Given the description of an element on the screen output the (x, y) to click on. 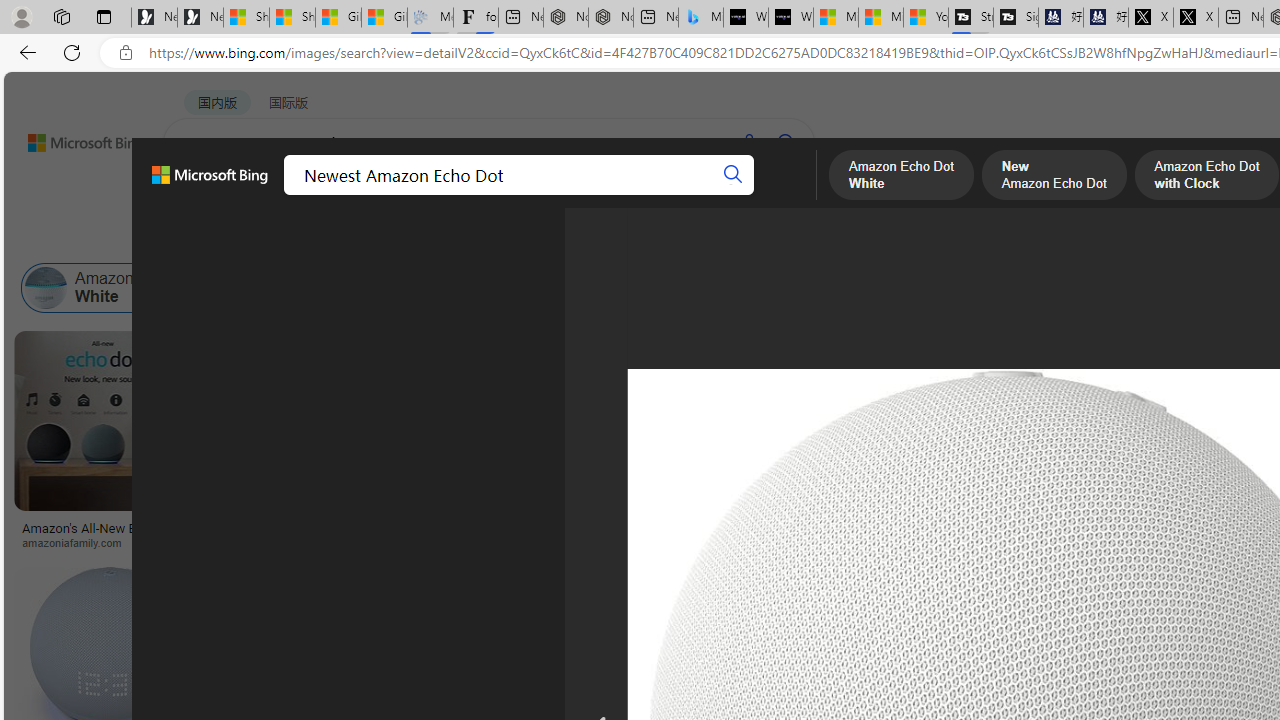
Class: b_pri_nav_svg (336, 196)
New Amazon Echo Dot (334, 287)
Amazon Echo Dot 3rd (1105, 287)
Dropdown Menu (779, 195)
MAPS (698, 195)
Best Buy (868, 541)
Best Buy (965, 542)
VIDEOS (458, 195)
Amazon Echo Dot White (122, 287)
